Given the description of an element on the screen output the (x, y) to click on. 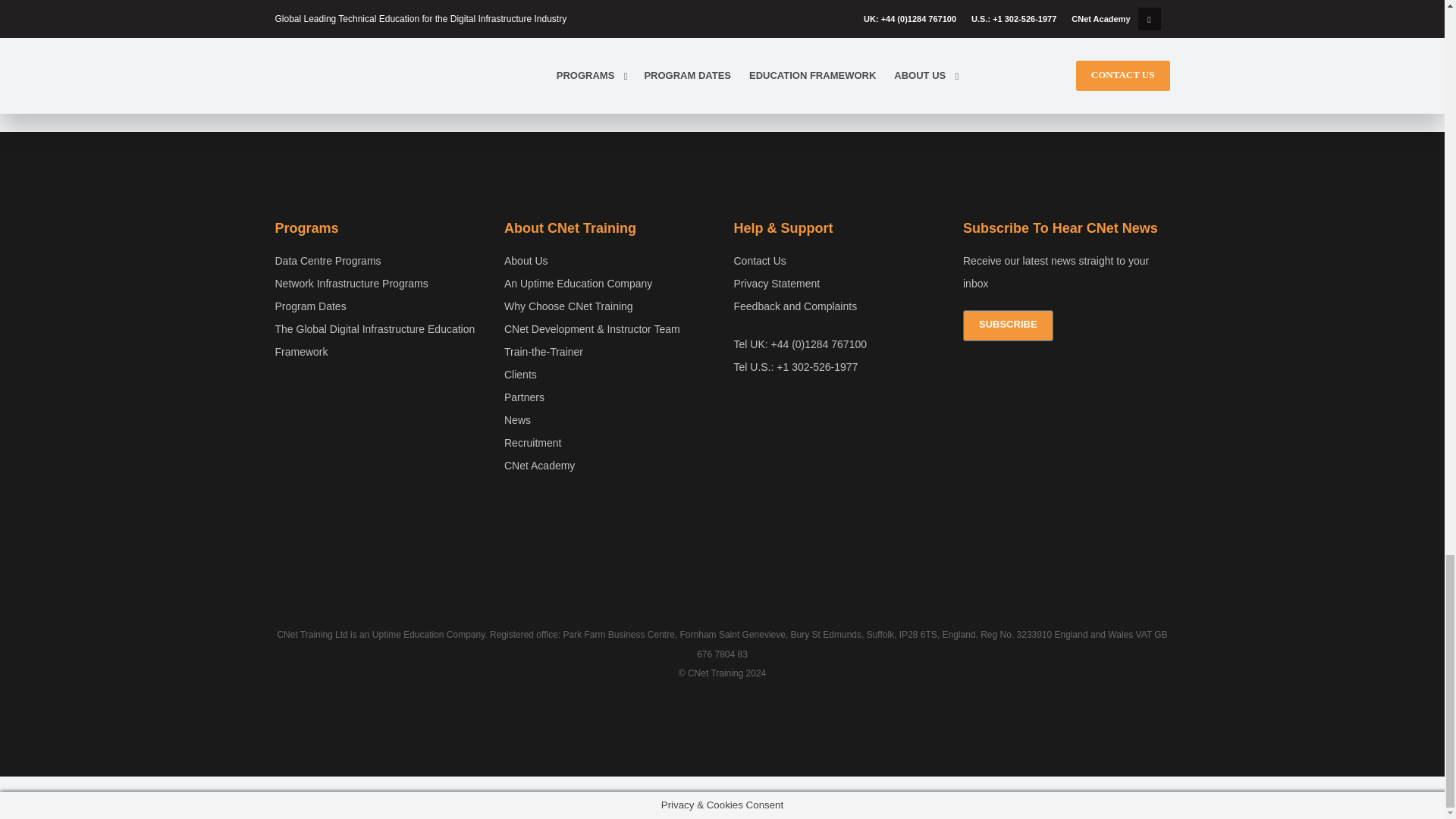
Sustainability (722, 544)
Click me (836, 283)
